Given the description of an element on the screen output the (x, y) to click on. 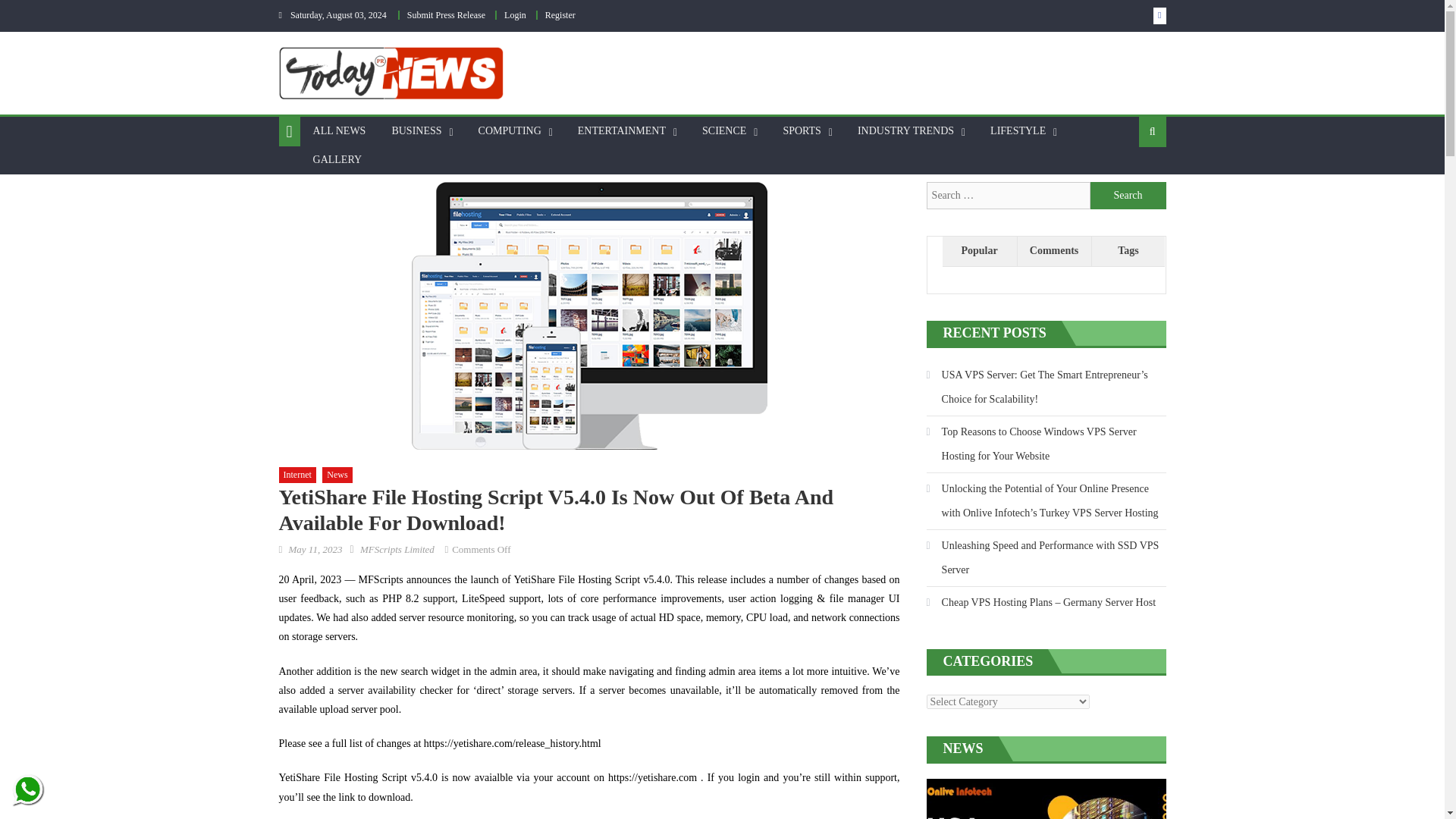
ALL NEWS (339, 131)
SPORTS (801, 131)
Register (559, 14)
Search (1128, 195)
Submit Press Release (445, 14)
Search (1128, 195)
BUSINESS (416, 131)
Login (514, 14)
INDUSTRY TRENDS (905, 131)
COMPUTING (510, 131)
ENTERTAINMENT (621, 131)
SCIENCE (723, 131)
